Given the description of an element on the screen output the (x, y) to click on. 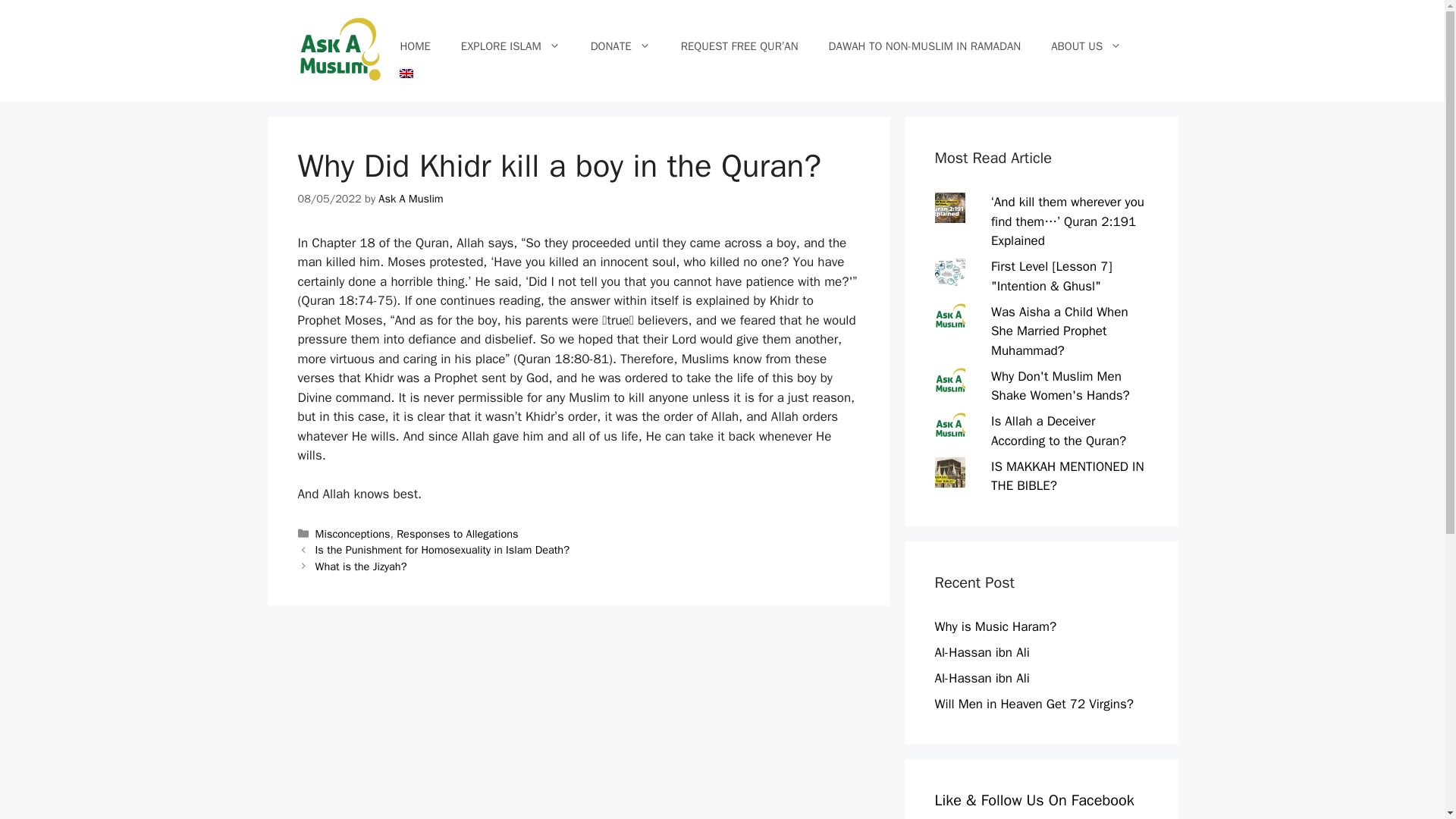
DONATE (620, 45)
EXPLORE ISLAM (510, 45)
View all posts by Ask A Muslim (410, 198)
Is Allah a Deceiver According to the Quran? (1058, 430)
ABOUT US (1086, 45)
HOME (414, 45)
DAWAH TO NON-MUSLIM IN RAMADAN (924, 45)
Why Don't Muslim Men Shake Women's Hands? (1060, 386)
Was Aisha a Child When She Married Prophet Muhammad? (1059, 330)
